Given the description of an element on the screen output the (x, y) to click on. 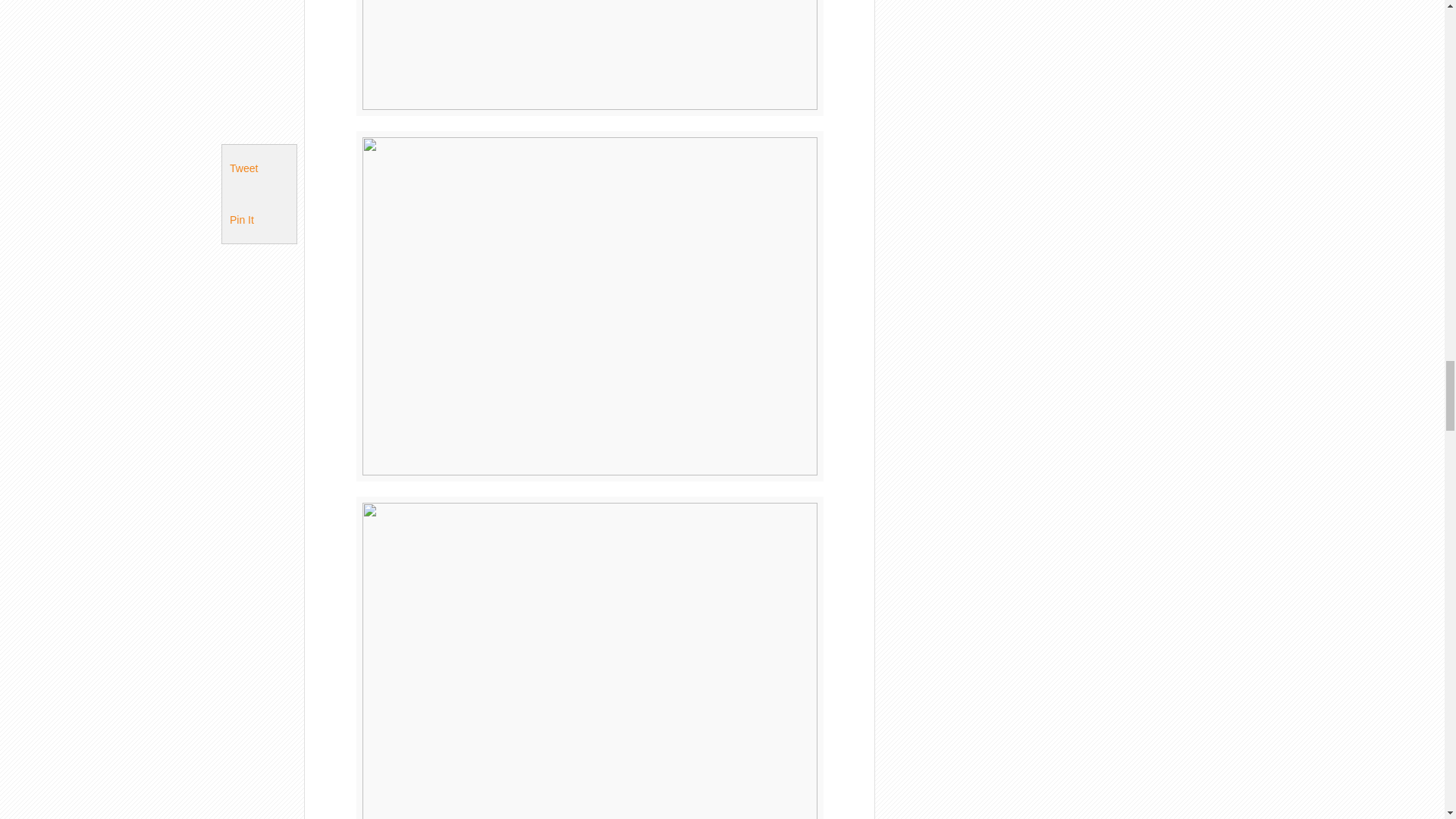
animal-9 (590, 58)
